Given the description of an element on the screen output the (x, y) to click on. 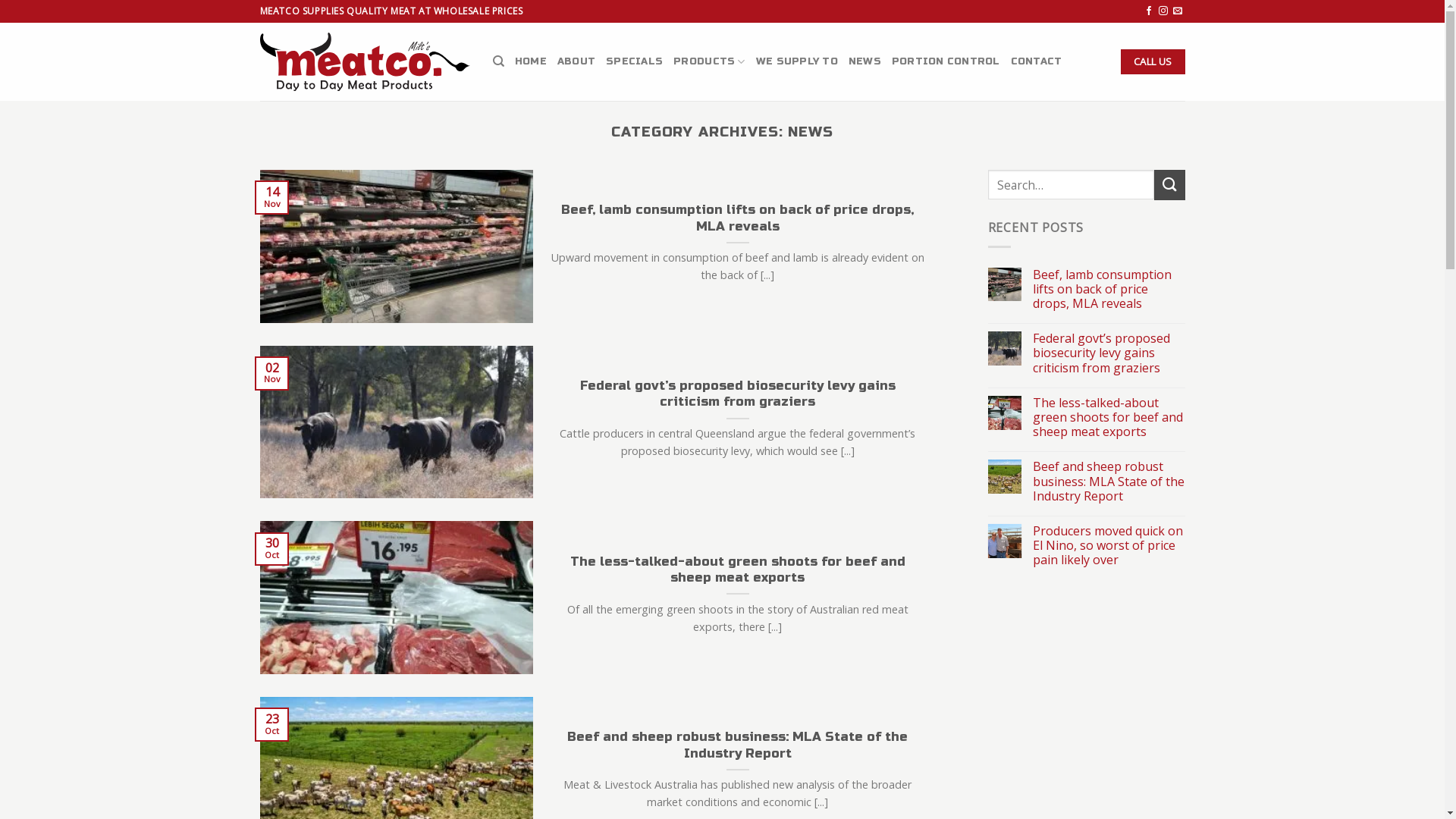
Follow on Instagram Element type: hover (1162, 11)
Send us an email Element type: hover (1177, 11)
SPECIALS Element type: text (633, 61)
PORTION CONTROL Element type: text (945, 61)
PRODUCTS Element type: text (709, 61)
HOME Element type: text (530, 61)
NEWS Element type: text (864, 61)
CONTACT Element type: text (1036, 61)
WE SUPPLY TO Element type: text (796, 61)
ABOUT Element type: text (576, 61)
Follow on Facebook Element type: hover (1148, 11)
CALL US Element type: text (1152, 62)
